Given the description of an element on the screen output the (x, y) to click on. 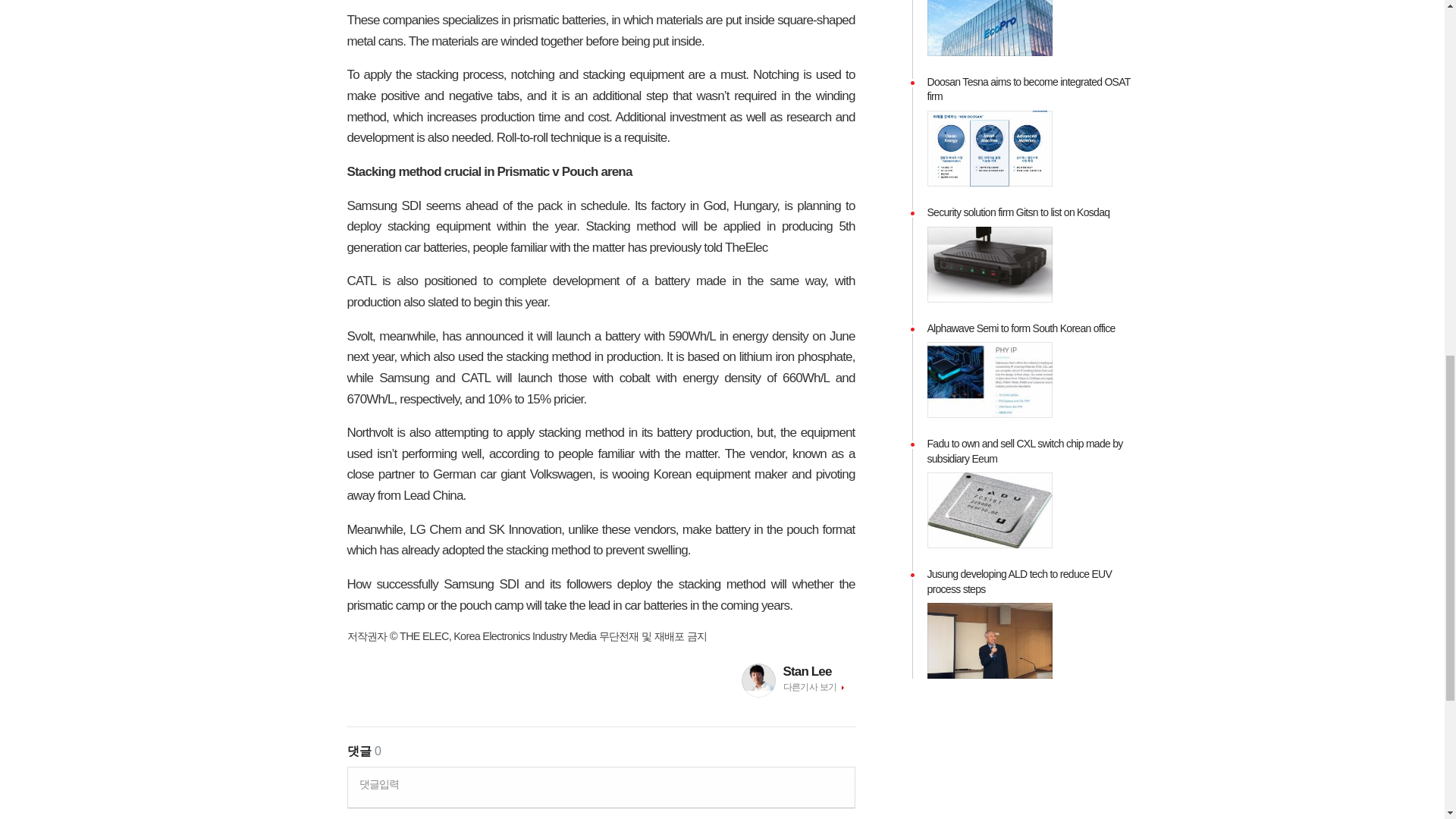
Stan Lee (818, 671)
